Given the description of an element on the screen output the (x, y) to click on. 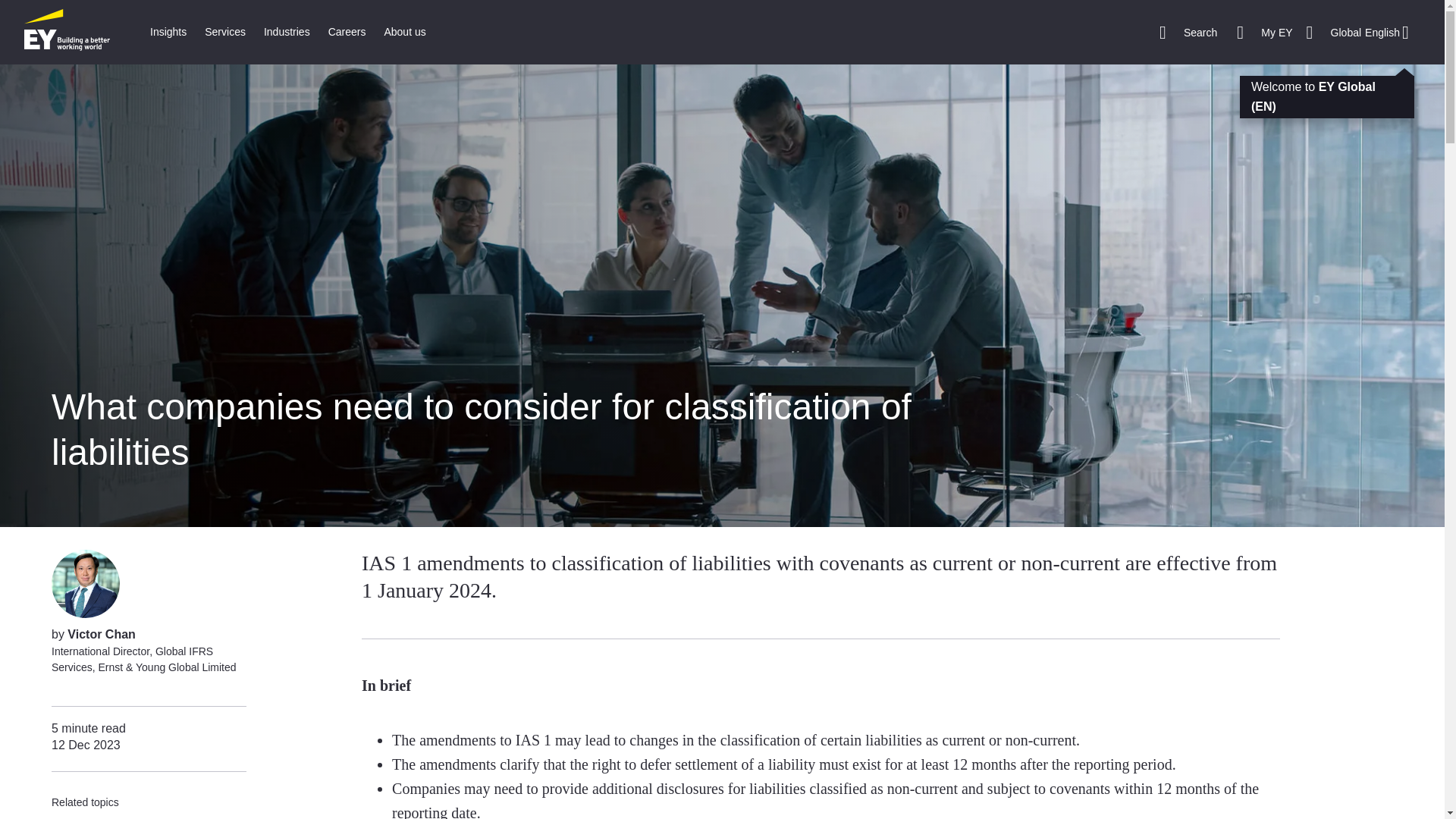
Open search (1188, 32)
EY Logo (67, 32)
Open country language switcher (1362, 32)
My EY (1264, 32)
EY Logo (67, 32)
